Given the description of an element on the screen output the (x, y) to click on. 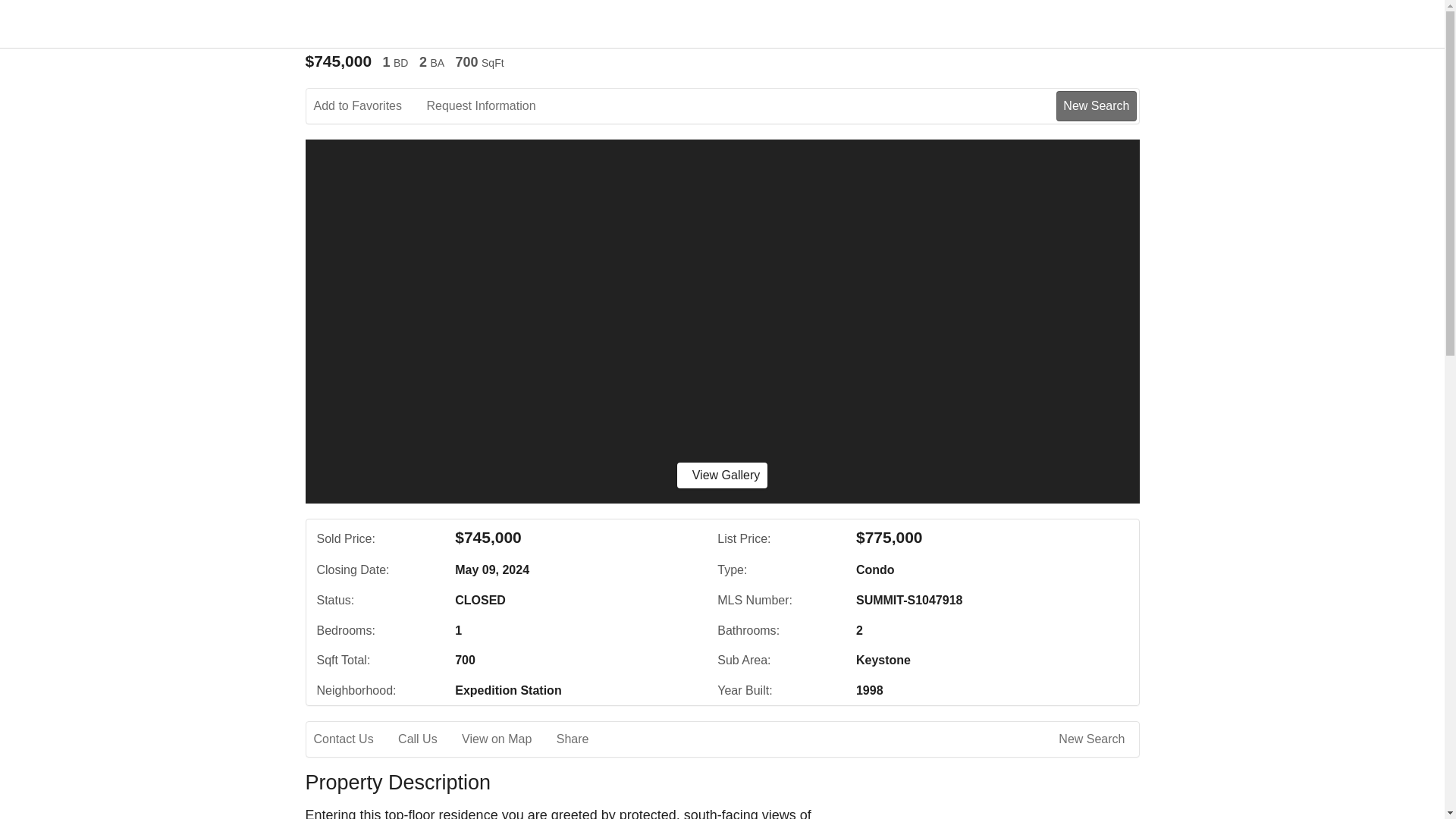
Call Us (427, 739)
Add to Favorites (368, 106)
Share (583, 739)
Request Information (491, 106)
View Gallery (722, 475)
View Gallery (722, 474)
View on Map (507, 739)
New Search (1096, 105)
New Search (1094, 739)
Contact Us (354, 739)
